Given the description of an element on the screen output the (x, y) to click on. 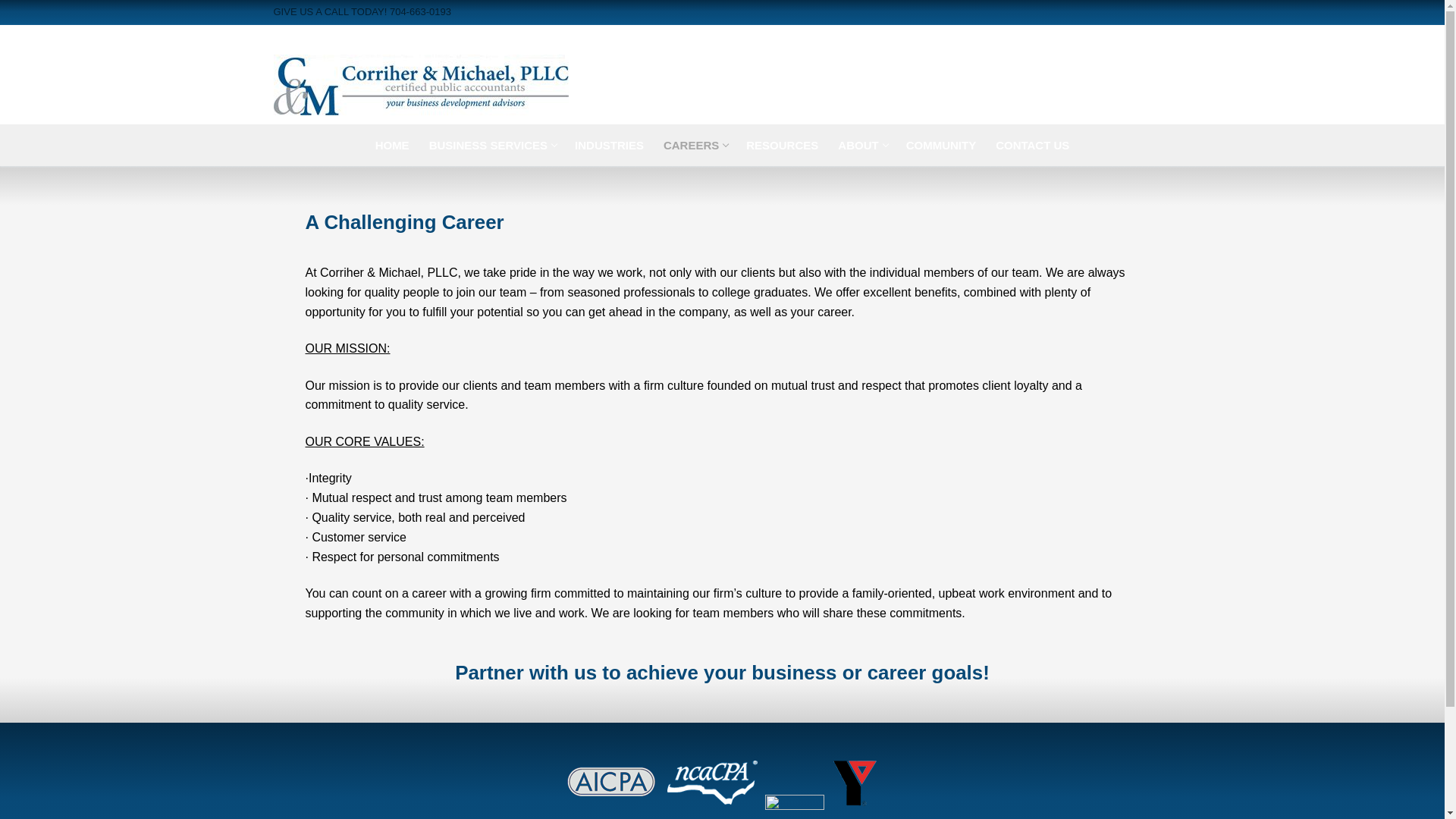
CONTACT US (1031, 144)
HOME (392, 144)
COMMUNITY (694, 144)
RESOURCES (941, 144)
INDUSTRIES (782, 144)
